Given the description of an element on the screen output the (x, y) to click on. 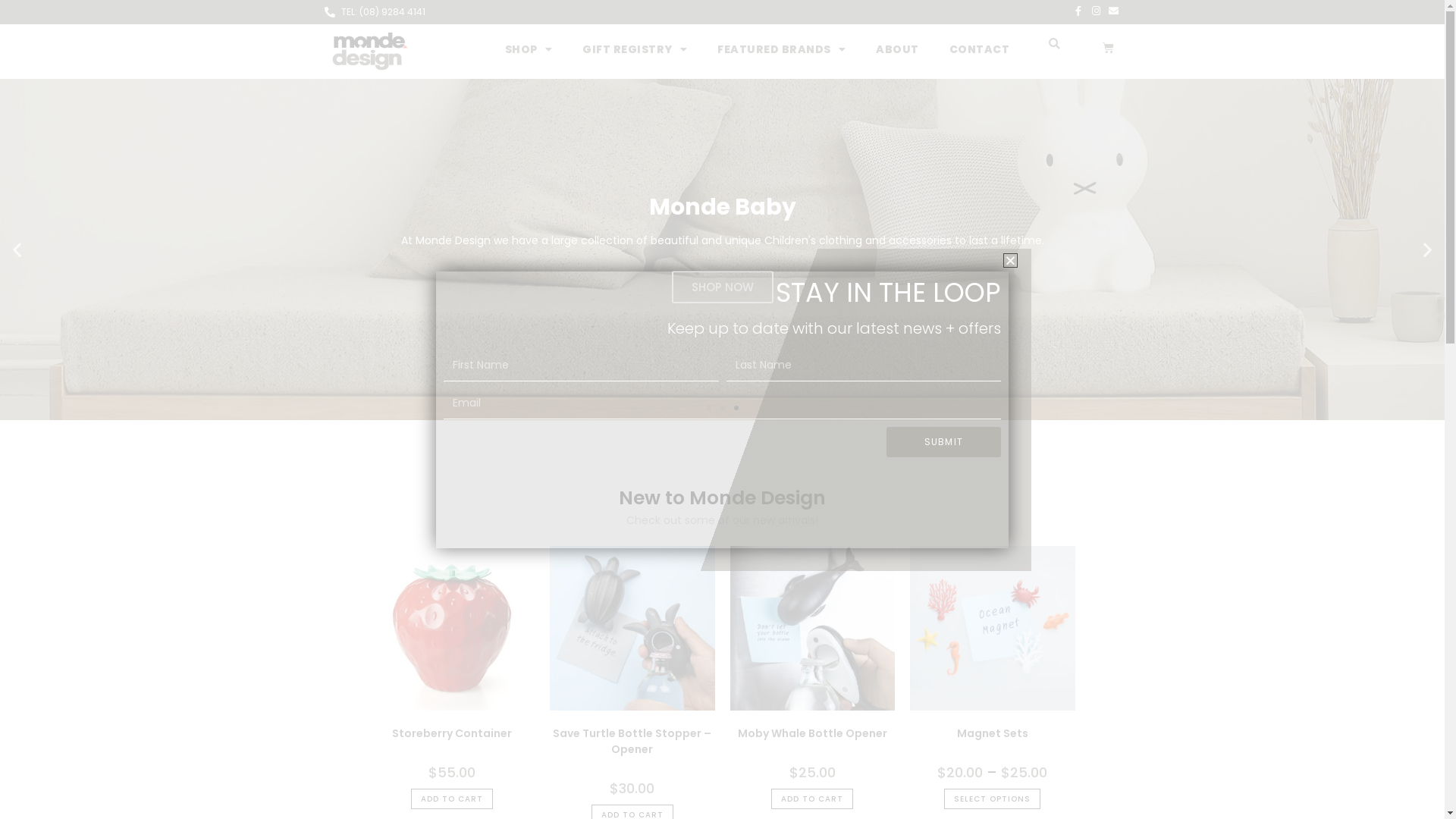
Moby Whale Bottle Opener Element type: text (812, 733)
SHOP Element type: text (528, 48)
Storeberry Container Element type: text (451, 733)
ADD TO CART Element type: text (812, 798)
CONTACT Element type: text (979, 48)
GIFT REGISTRY Element type: text (634, 48)
Magnet Sets Element type: text (992, 733)
ABOUT Element type: text (897, 48)
TEL: (08) 9284 4141 Element type: text (375, 11)
ADD TO CART Element type: text (451, 798)
SUBMIT Element type: text (943, 441)
SELECT OPTIONS Element type: text (992, 798)
FEATURED BRANDS Element type: text (781, 48)
